Given the description of an element on the screen output the (x, y) to click on. 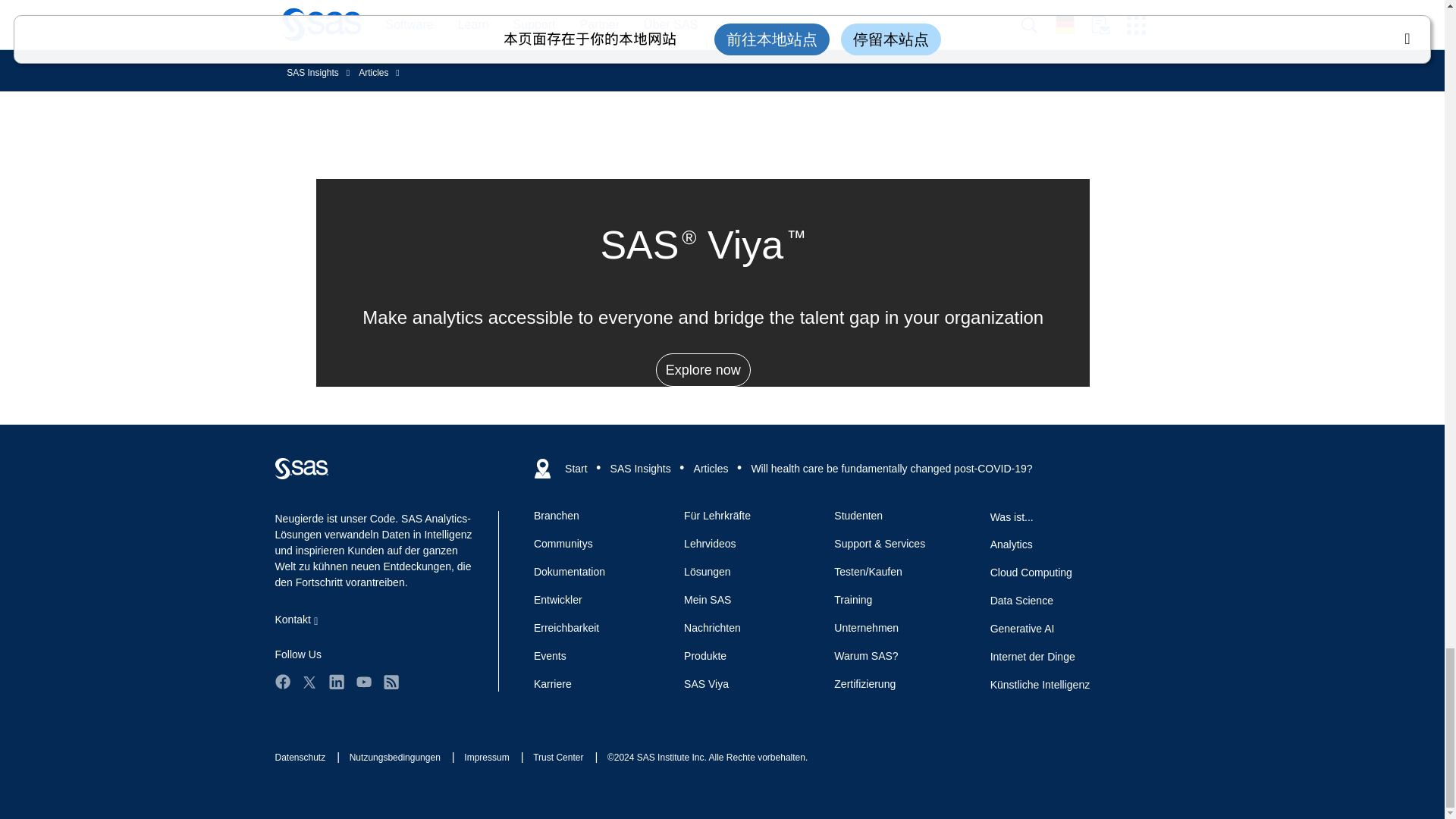
Web (301, 468)
